Given the description of an element on the screen output the (x, y) to click on. 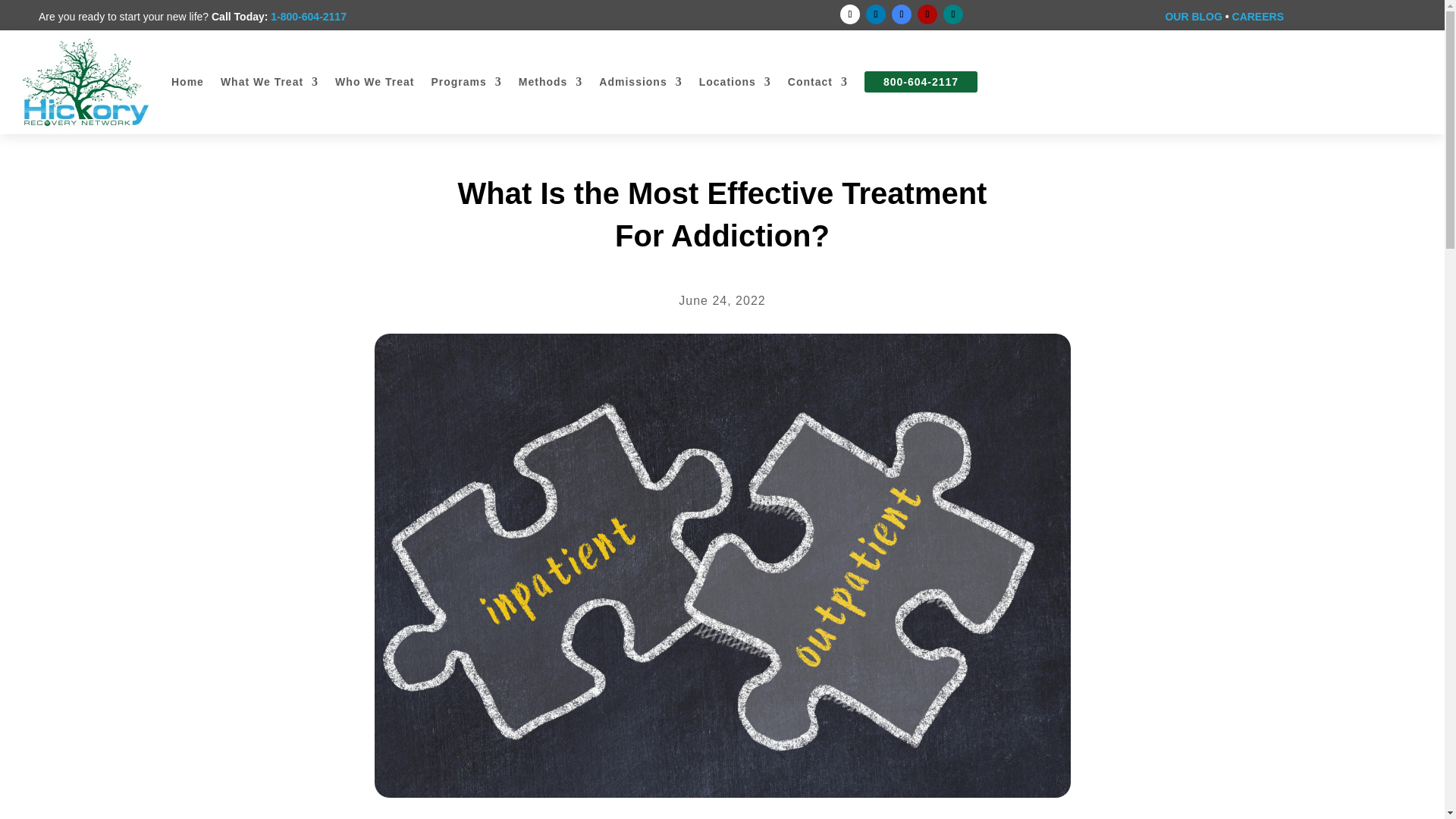
Follow on Yelp (927, 14)
1-800-604-2117 (308, 16)
What We Treat (269, 82)
Follow on Bing (952, 14)
Follow on LinkedIn (875, 14)
Follow on Facebook (850, 14)
CAREERS (1257, 16)
Follow on Google (901, 14)
What We Treat (269, 82)
OUR BLOG (1192, 16)
